Given the description of an element on the screen output the (x, y) to click on. 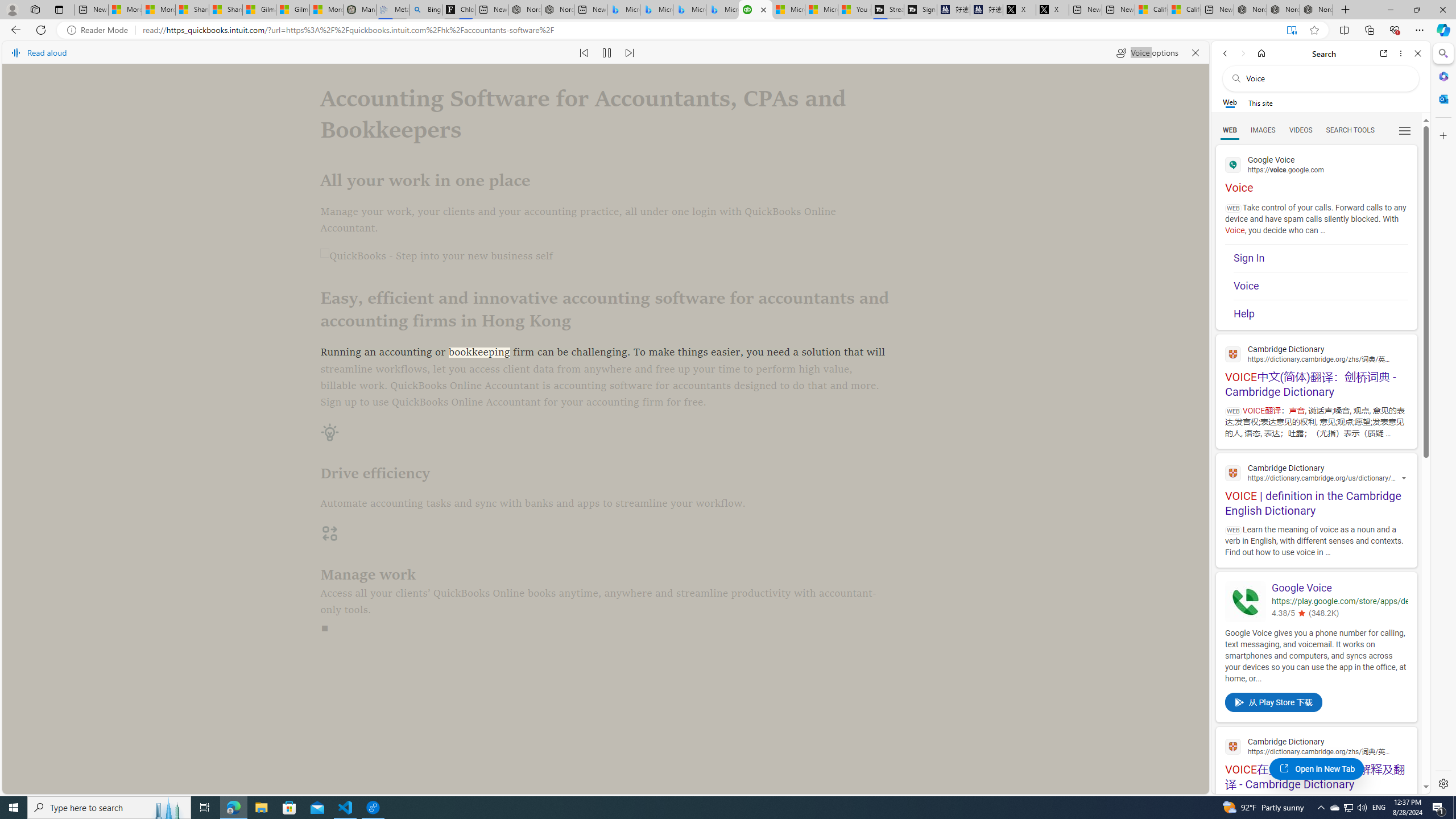
Microsoft 365 (1442, 76)
Outlook (1442, 98)
Help (1320, 310)
Exit Immersive Reader (F9) (1291, 29)
Search Filter, VIDEOS (1300, 129)
More options (1401, 53)
VIDEOS (1300, 130)
Voice options (1146, 52)
Search Filter, IMAGES (1262, 129)
Nordace Siena Pro 15 Backpack (1283, 9)
